Given the description of an element on the screen output the (x, y) to click on. 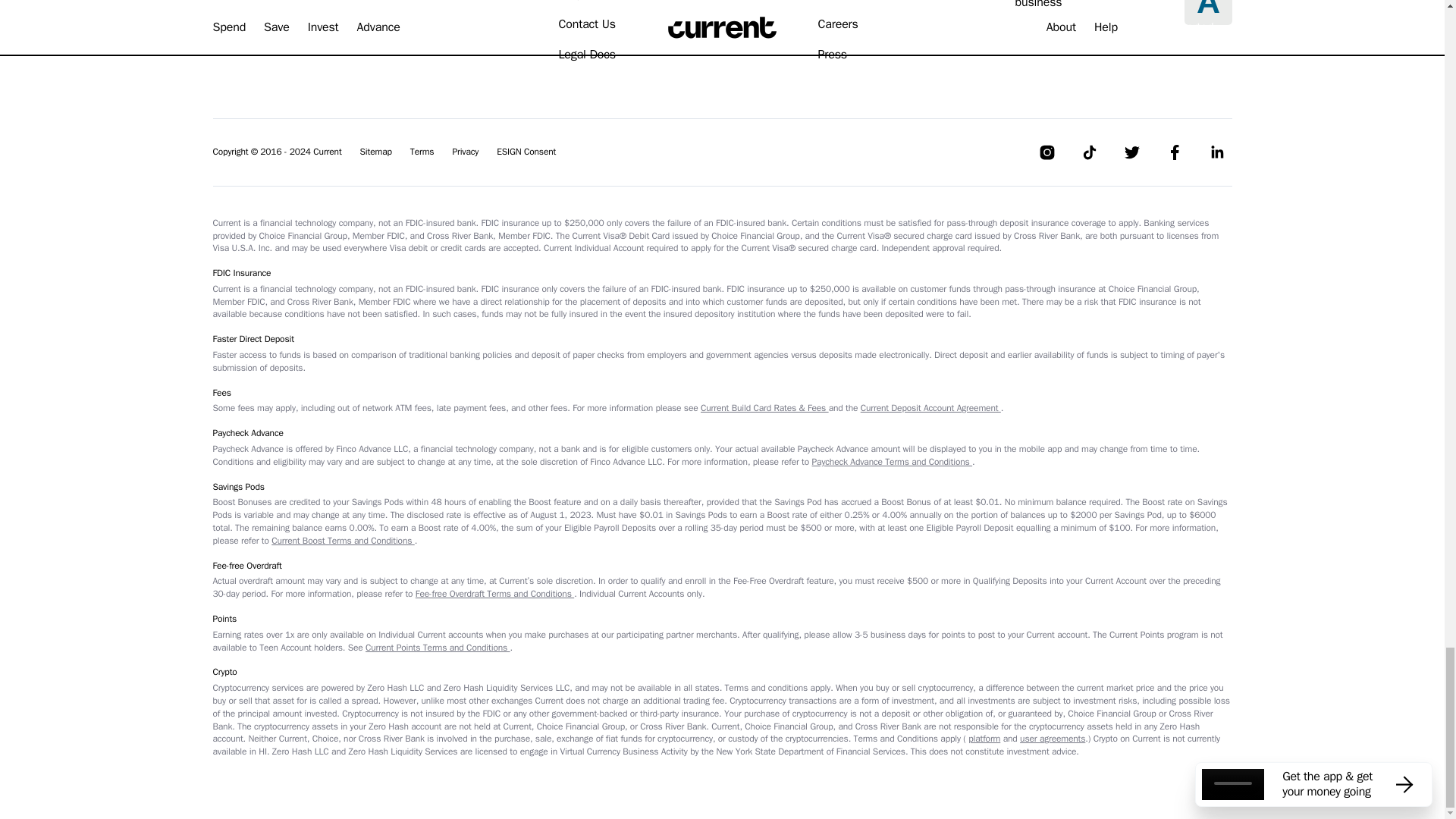
Blog (568, 0)
Legal Docs (585, 53)
Link to Current's linkedin (1216, 152)
Careers (836, 23)
Link to Current's tiktok (1088, 152)
Link to Current's twitter (1131, 152)
Link to Current's instagram (1045, 152)
Contact Us (585, 23)
Our Story (840, 0)
Link to Current's facebook (1173, 152)
